Given the description of an element on the screen output the (x, y) to click on. 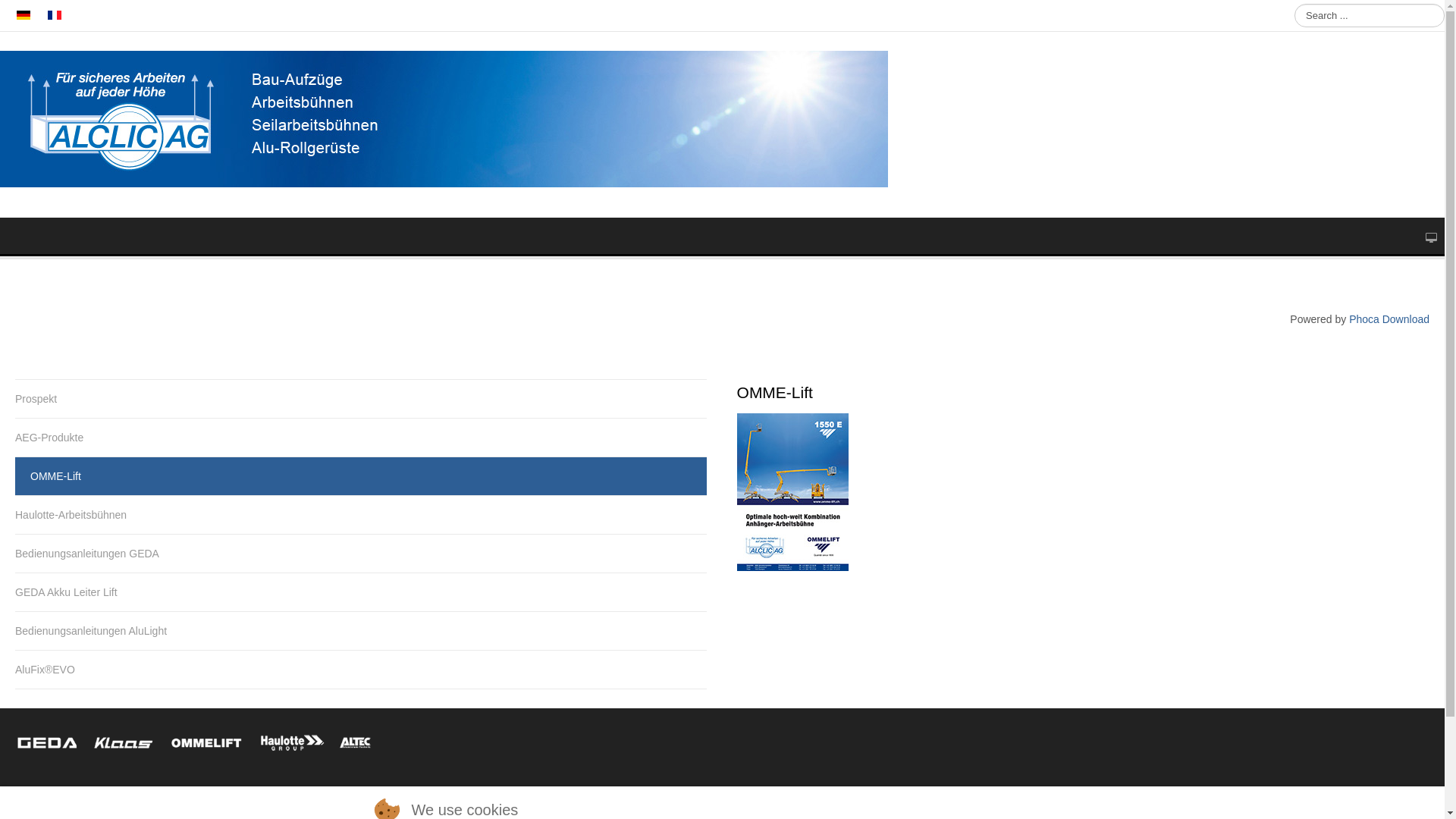
AEG-Produkte Element type: text (360, 437)
Deutsch Element type: hover (23, 14)
GEDA Akku Leiter Lift Element type: text (360, 592)
Phoca Download Element type: text (1389, 319)
Bedienungsanleitungen GEDA Element type: text (360, 553)
Bedienungsanleitungen AluLight Element type: text (360, 630)
Prospekt Element type: text (360, 398)
OMME-Lift Element type: text (360, 476)
. Element type: hover (54, 14)
